Given the description of an element on the screen output the (x, y) to click on. 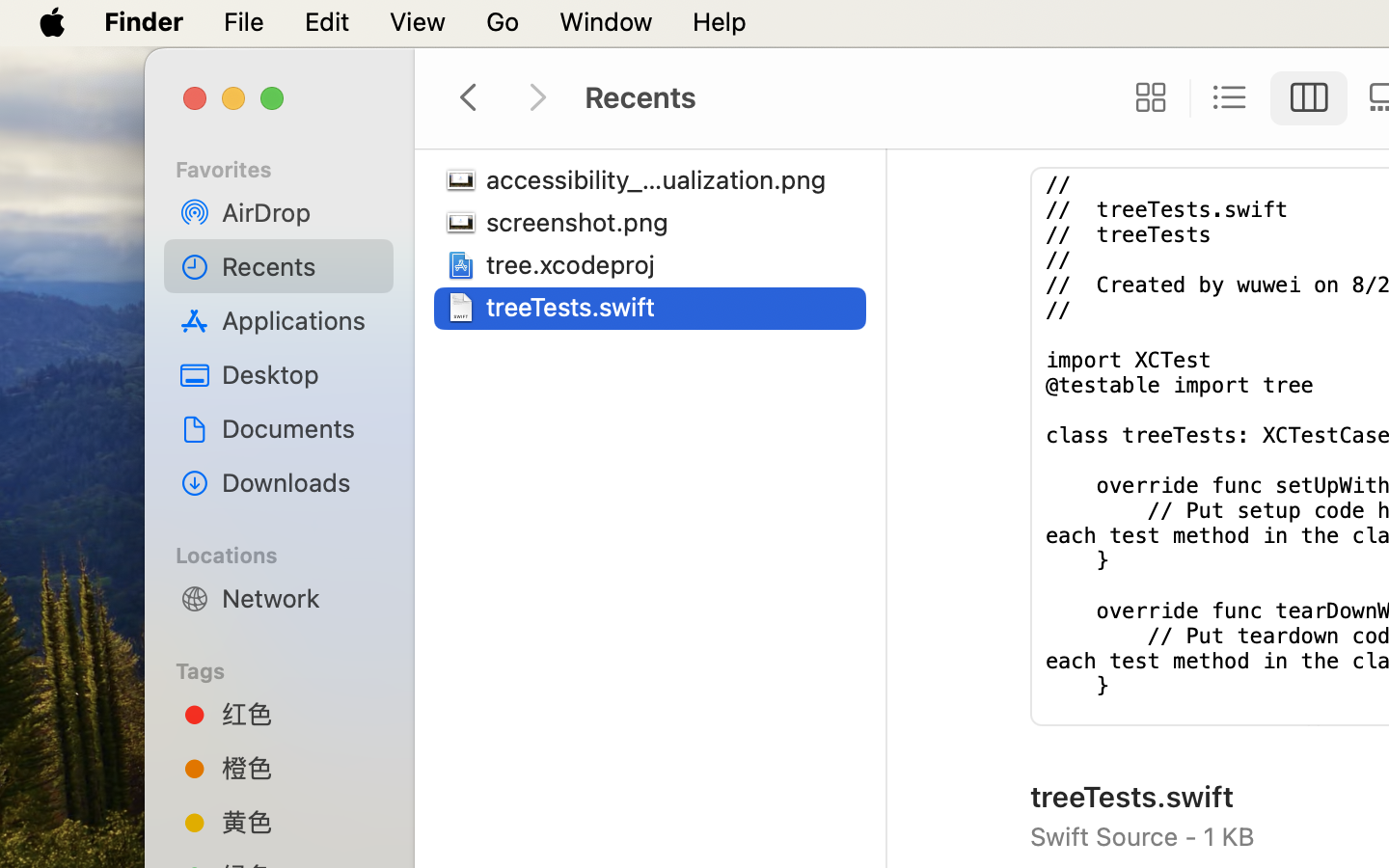
screenshot.png Element type: AXTextField (581, 221)
Documents Element type: AXStaticText (299, 427)
Favorites Element type: AXStaticText (289, 166)
黄色 Element type: AXStaticText (299, 821)
